Given the description of an element on the screen output the (x, y) to click on. 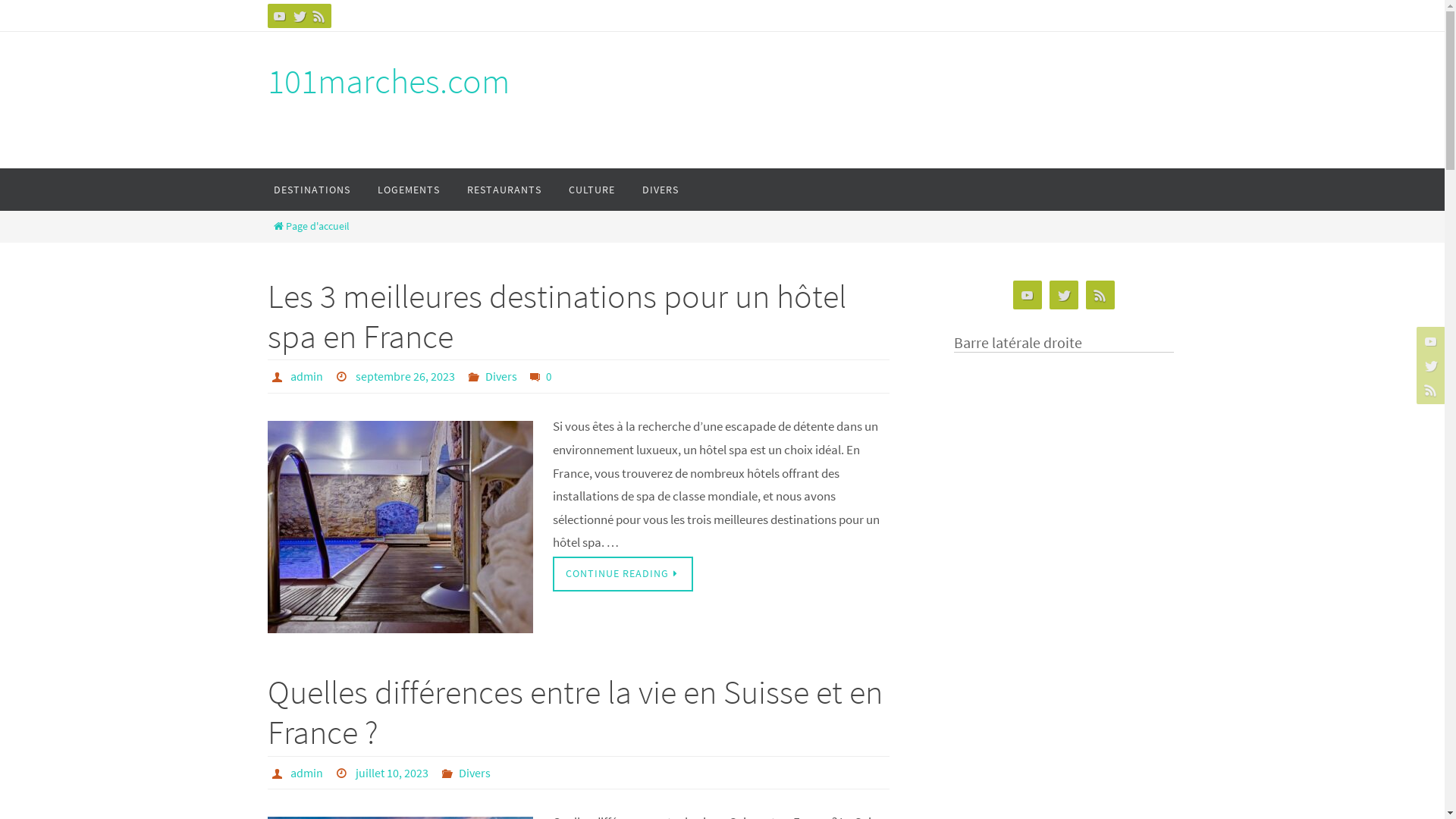
YouTube Element type: hover (1428, 340)
Date Element type: hover (343, 375)
RSS Element type: hover (318, 15)
Divers Element type: text (501, 376)
CONTINUE READING Element type: text (622, 573)
Divers Element type: text (474, 773)
0 Element type: text (540, 376)
Leave a comment Element type: hover (537, 376)
DIVERS Element type: text (659, 189)
admin Element type: text (306, 773)
CULTURE Element type: text (591, 189)
Page d'accueil Element type: text (310, 225)
DESTINATIONS Element type: text (311, 189)
YouTube Element type: hover (278, 15)
juillet 10, 2023 Element type: text (391, 773)
YouTube Element type: hover (1027, 295)
Auteur Element type: hover (278, 375)
RESTAURANTS Element type: text (504, 189)
Date Element type: hover (343, 772)
LOGEMENTS Element type: text (408, 189)
101marches.com Element type: text (387, 81)
RSS Element type: hover (1099, 295)
RSS Element type: hover (1428, 389)
admin Element type: text (306, 376)
Twitter Element type: hover (1428, 365)
Auteur Element type: hover (278, 772)
Twitter Element type: hover (1063, 295)
septembre 26, 2023 Element type: text (405, 376)
Twitter Element type: hover (298, 15)
